Given the description of an element on the screen output the (x, y) to click on. 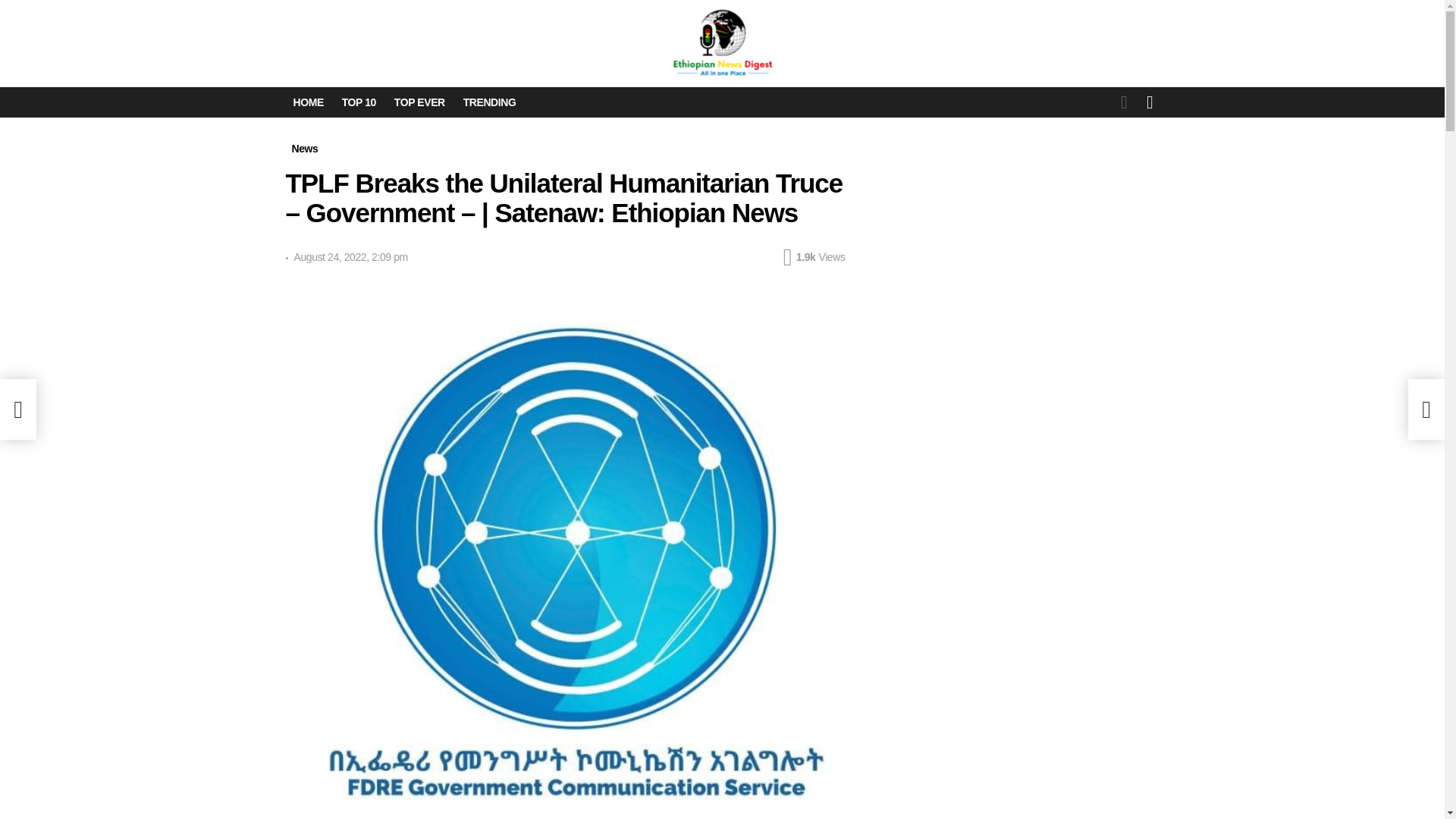
TOP 10 (359, 101)
TRENDING (489, 101)
News (304, 148)
HOME (307, 101)
TOP EVER (419, 101)
